Given the description of an element on the screen output the (x, y) to click on. 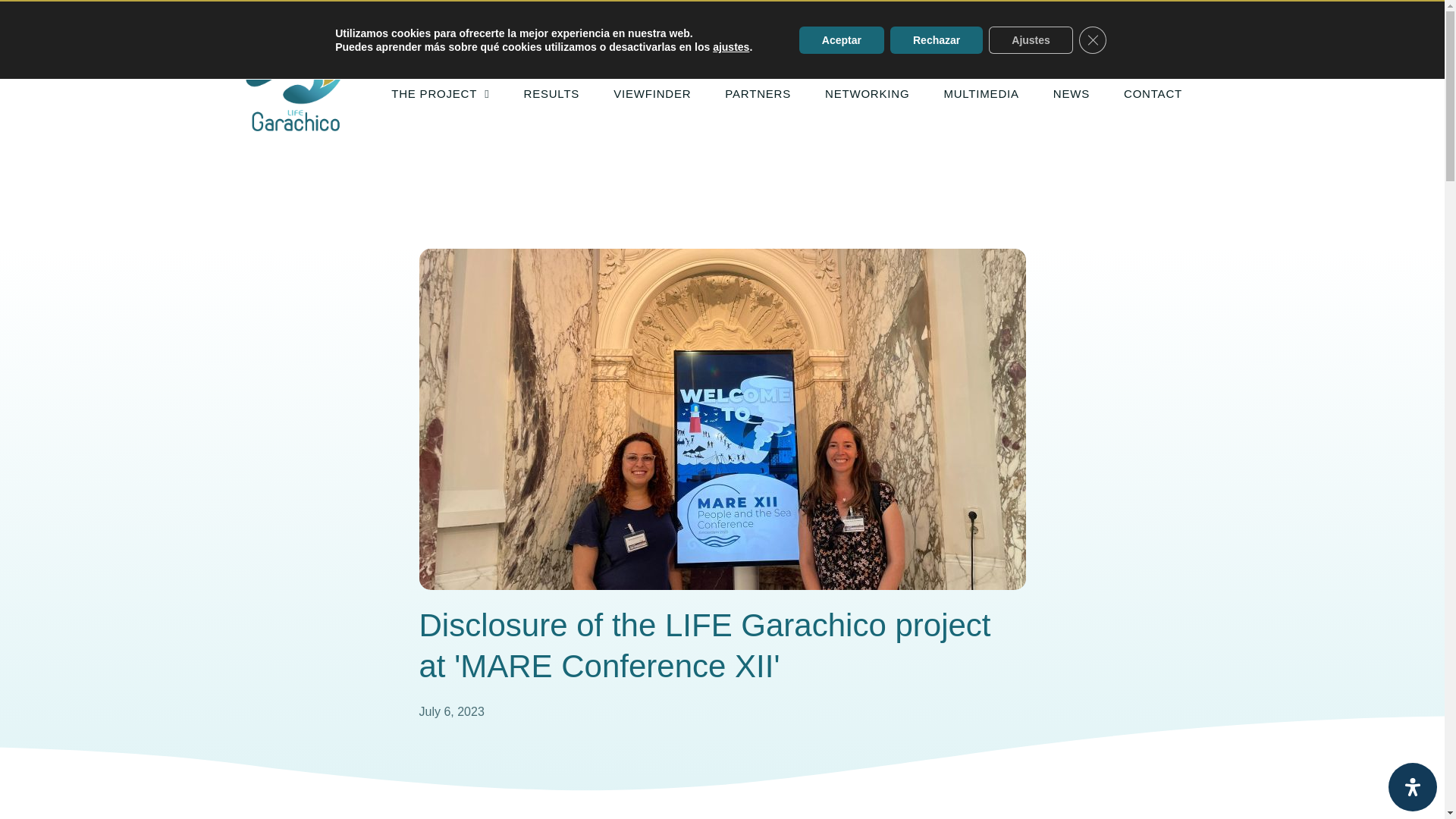
PARTNERS (758, 93)
THE PROJECT (439, 93)
English (1076, 33)
VIEWFINDER (652, 93)
English (1088, 34)
RESULTS (551, 93)
MULTIMEDIA (980, 93)
NETWORKING (866, 93)
NEWS (1071, 93)
